Given the description of an element on the screen output the (x, y) to click on. 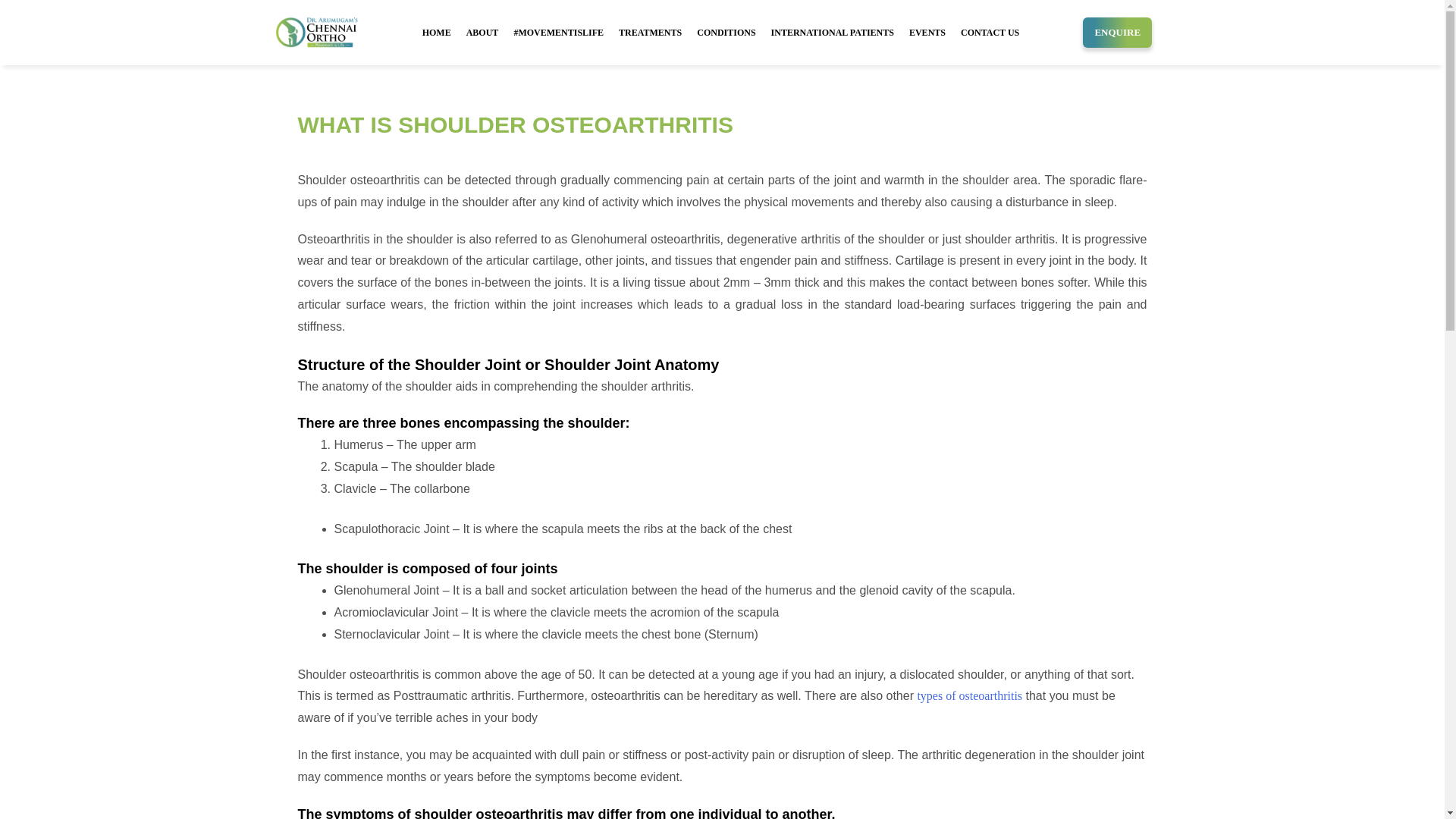
INTERNATIONAL PATIENTS (831, 32)
CONTACT US (989, 32)
HOME (436, 32)
EVENTS (927, 32)
CONDITIONS (725, 32)
TREATMENTS (649, 32)
ABOUT (482, 32)
